Given the description of an element on the screen output the (x, y) to click on. 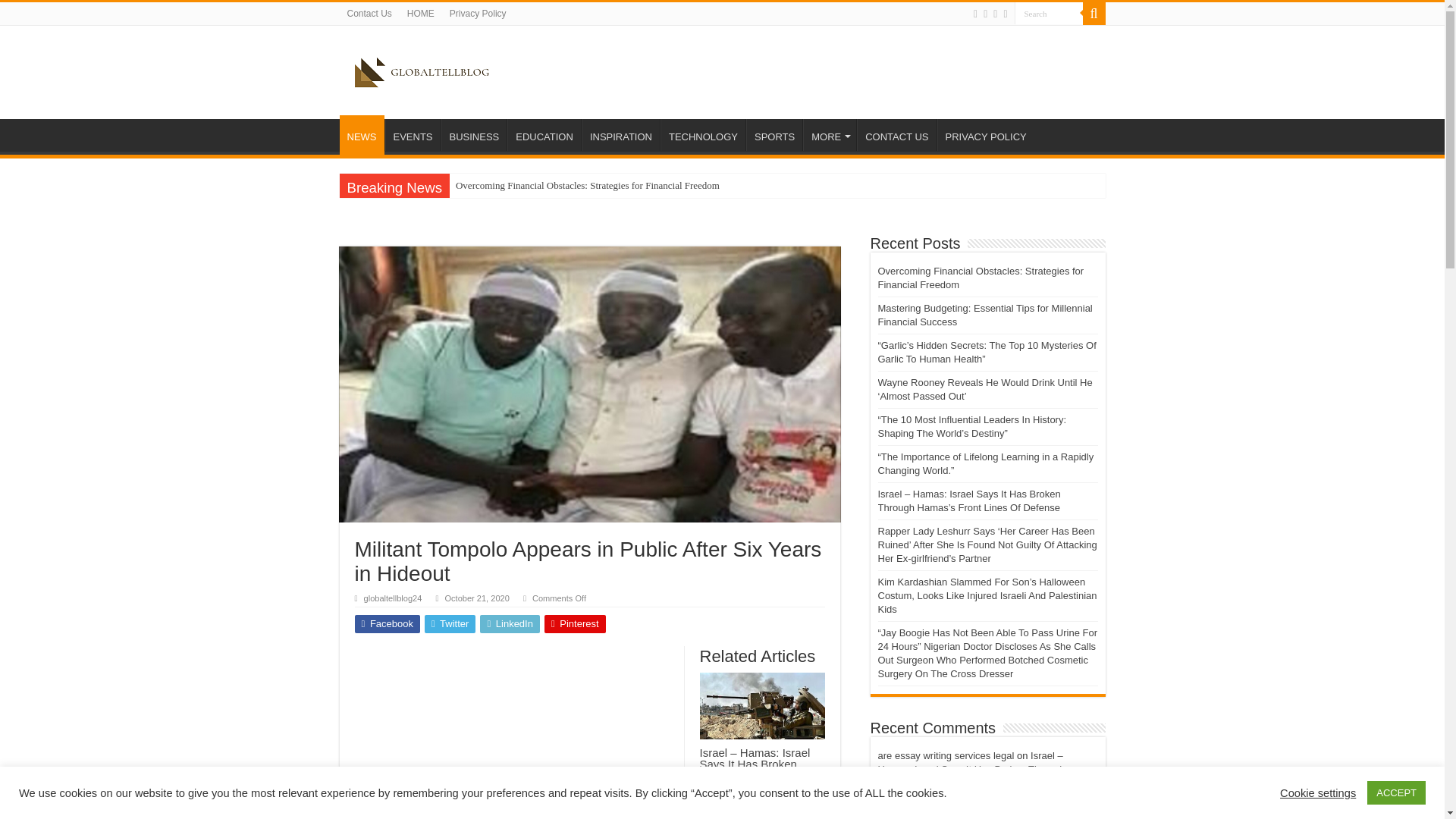
TECHNOLOGY (703, 134)
NEWS (361, 134)
INSPIRATION (619, 134)
CONTACT US (896, 134)
Search (1048, 13)
Search (1094, 13)
SPORTS (773, 134)
Search (1048, 13)
